Given the description of an element on the screen output the (x, y) to click on. 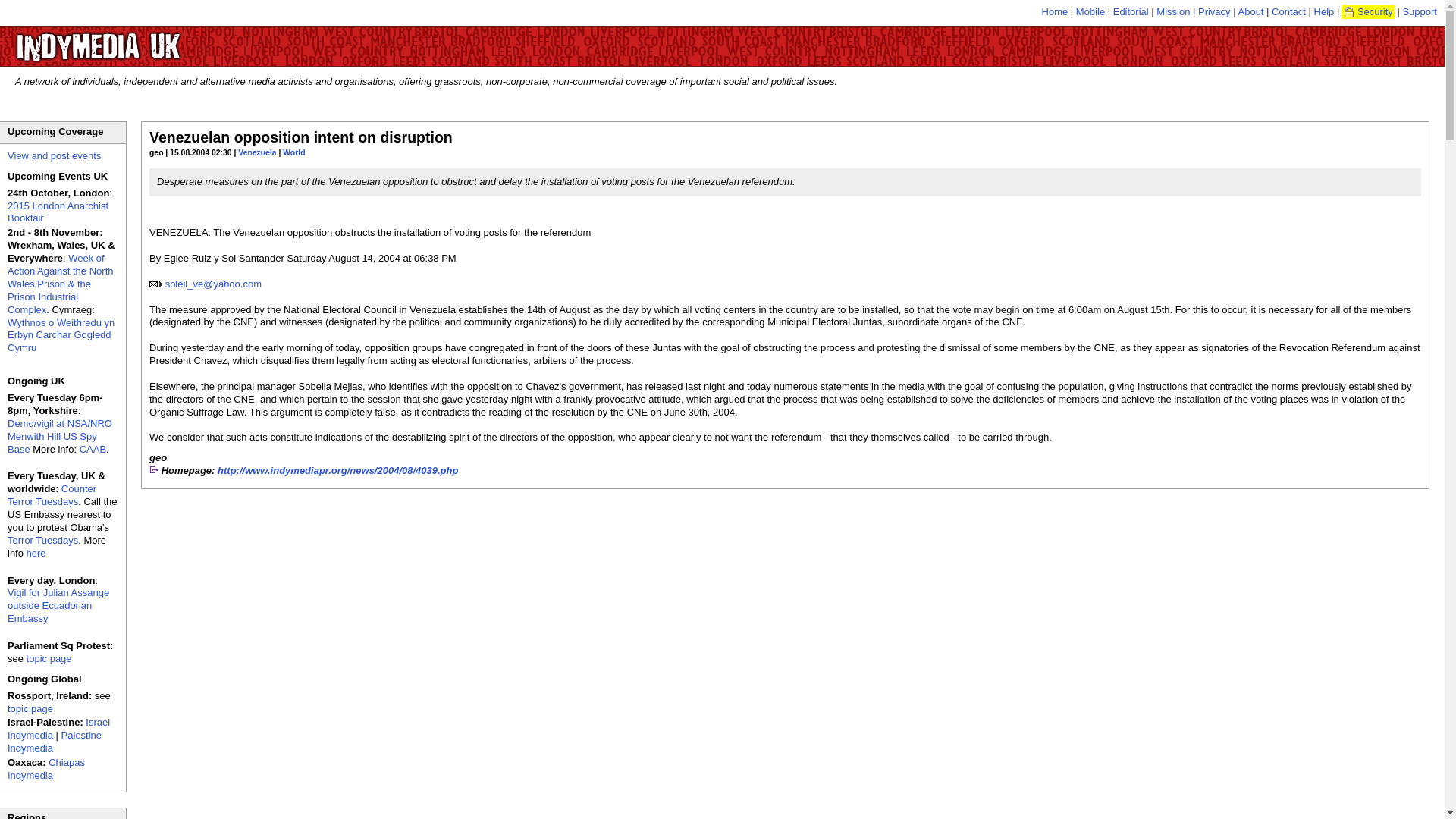
View and post events (53, 155)
Security (1368, 11)
About (1250, 11)
Wythnos o Weithredu yn Erbyn Carchar Gogledd Cymru (61, 334)
Home (1055, 11)
Help (1324, 11)
CAAB (93, 449)
UK Indymedia (144, 39)
World (293, 152)
Support (1419, 11)
Contact (1288, 11)
Venezuela (257, 152)
Privacy (1214, 11)
Mobile (1090, 11)
2015 London Anarchist Bookfair (57, 211)
